Given the description of an element on the screen output the (x, y) to click on. 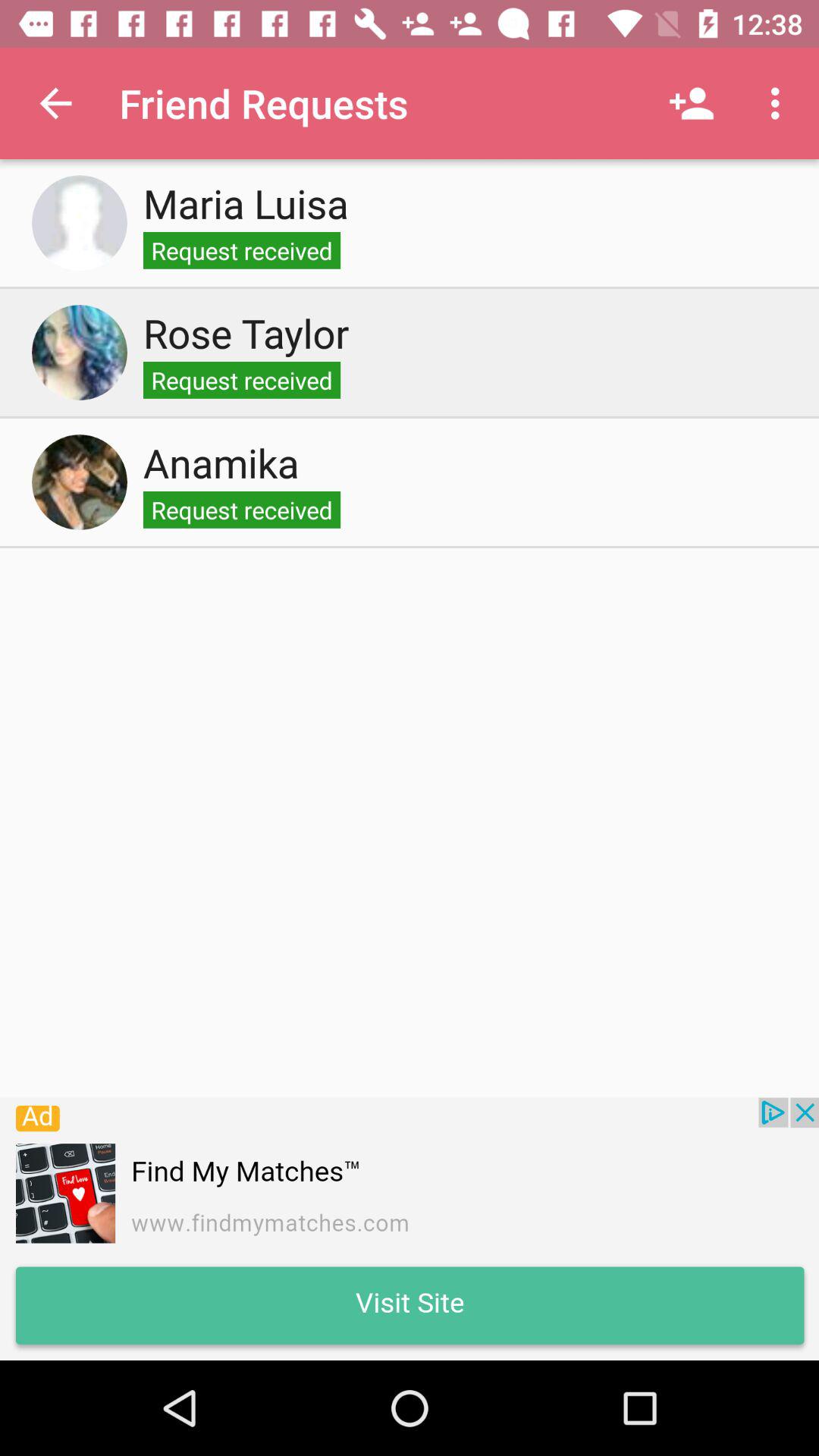
contact profile selection (79, 352)
